Given the description of an element on the screen output the (x, y) to click on. 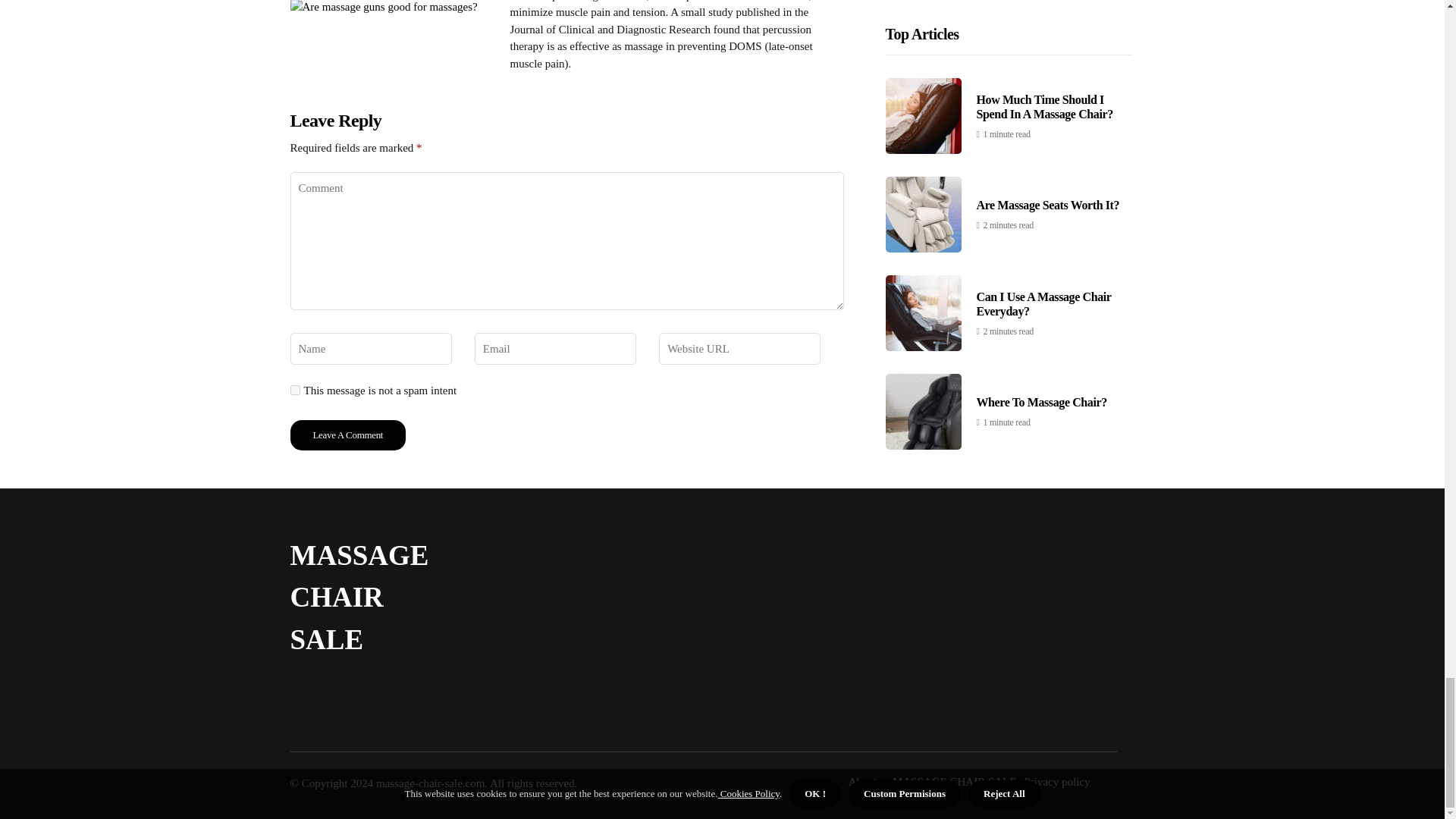
Leave a Comment (347, 435)
yes (294, 389)
Leave a Comment (347, 435)
